Given the description of an element on the screen output the (x, y) to click on. 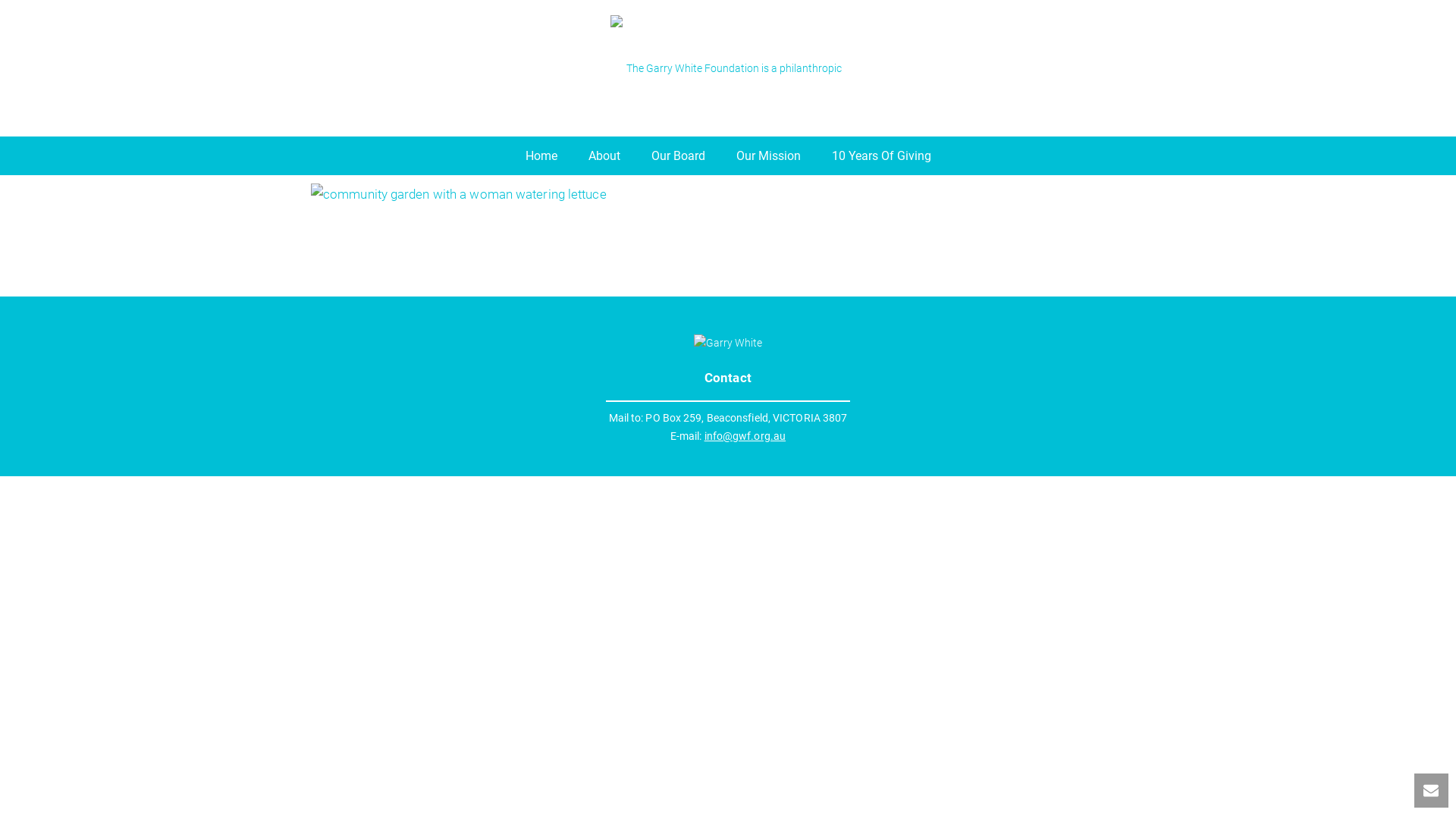
Our Mission Element type: text (768, 155)
Garry White Foundation Element type: hover (727, 68)
Our Board Element type: text (678, 155)
About Element type: text (604, 155)
Home Element type: text (541, 155)
10 Years Of Giving Element type: text (881, 155)
info@gwf.org.au Element type: text (745, 435)
